Given the description of an element on the screen output the (x, y) to click on. 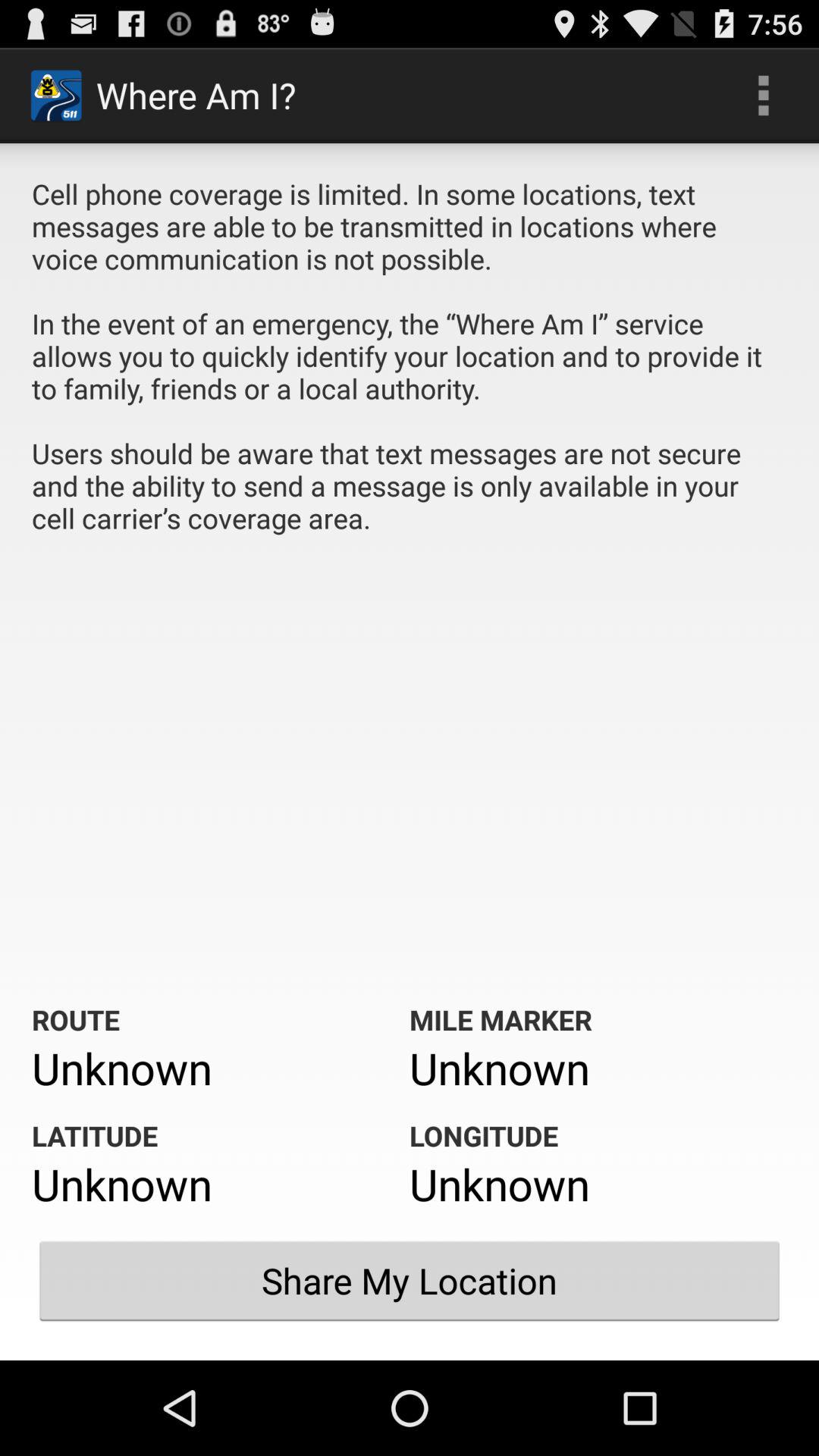
tap icon next to the where am i? icon (763, 95)
